Given the description of an element on the screen output the (x, y) to click on. 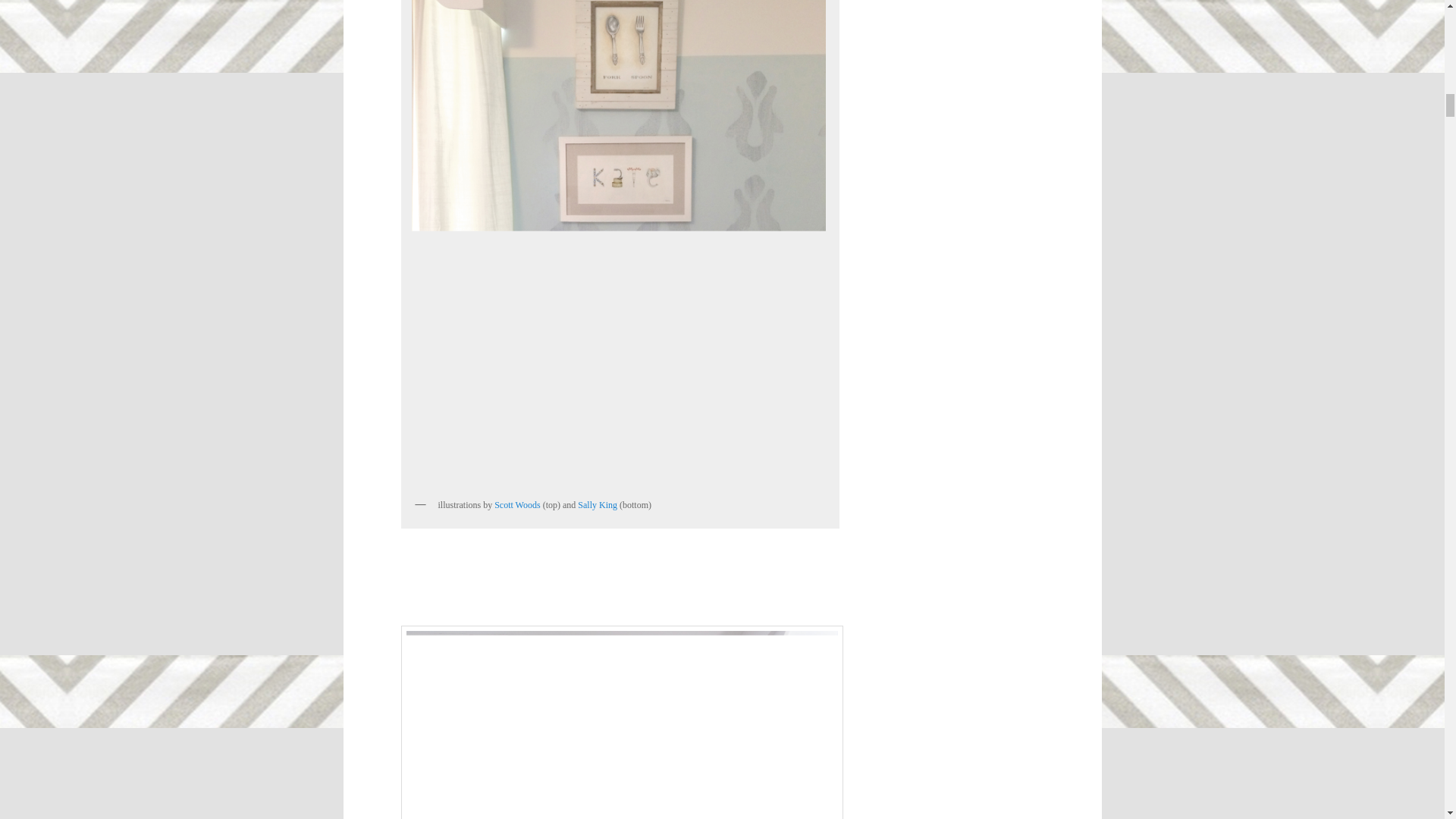
Scott Woods (517, 504)
Sally King (597, 504)
